Given the description of an element on the screen output the (x, y) to click on. 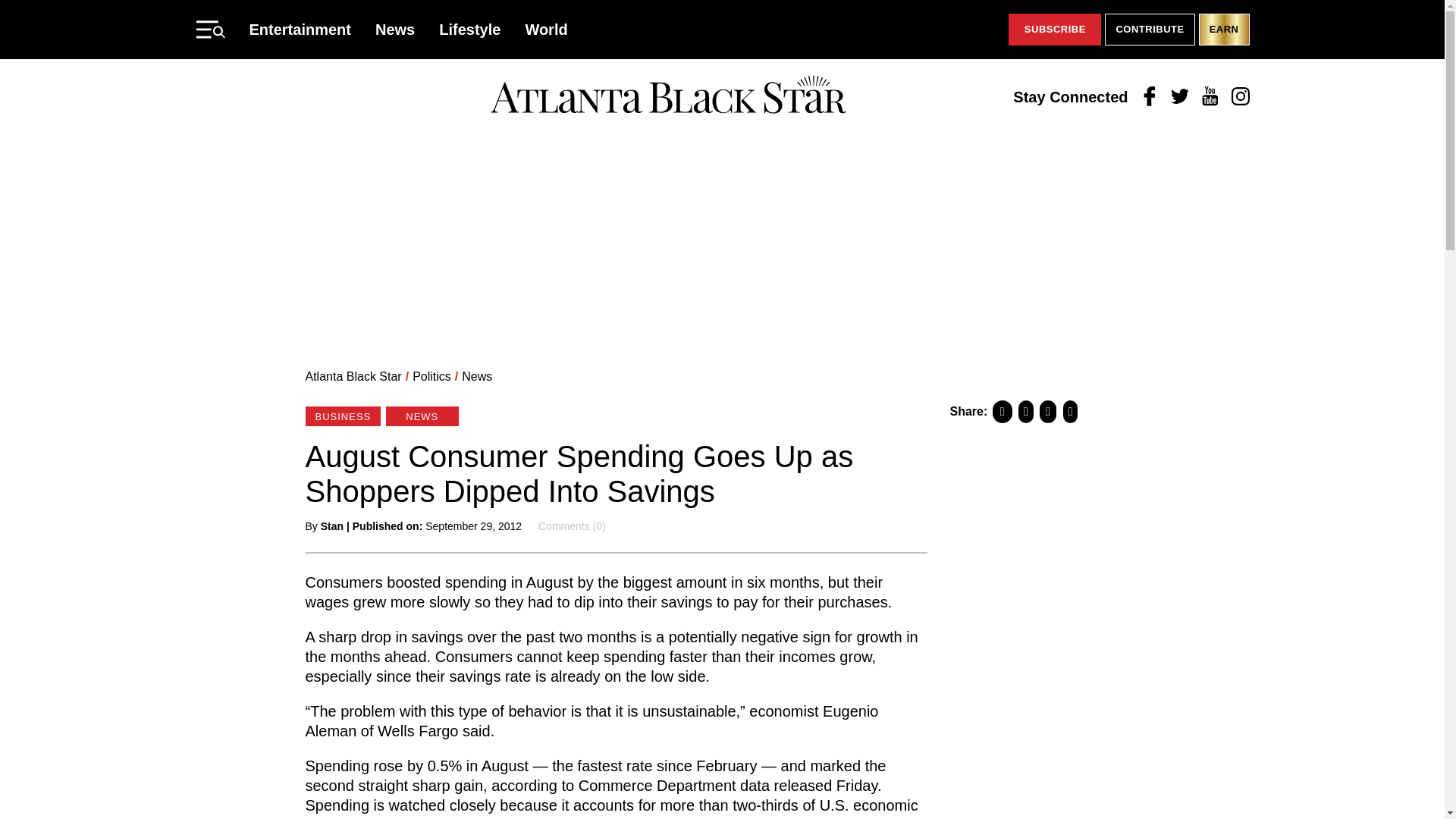
News (394, 29)
EARN (1223, 29)
Atlanta Black Star (352, 376)
Atlanta Black Star (667, 96)
Entertainment (299, 29)
CONTRIBUTE (1149, 29)
Politics (431, 376)
Lifestyle (469, 29)
SUBSCRIBE (1054, 29)
World (545, 29)
Go to Atlanta Black Star. (352, 376)
Go to the News Category archives. (476, 376)
Go to the Politics Category archives. (431, 376)
